Given the description of an element on the screen output the (x, y) to click on. 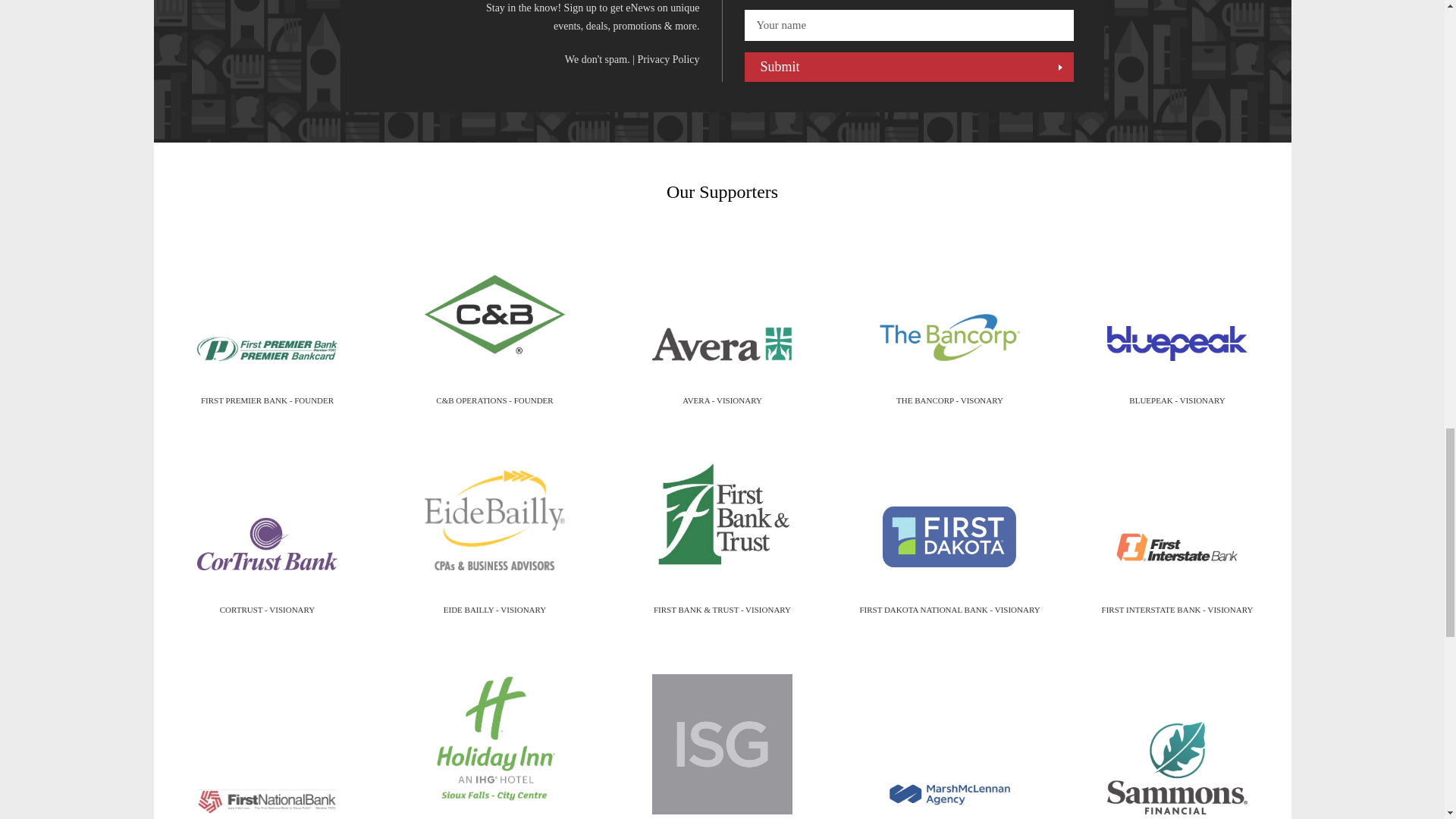
The Bancorp - VISONARY (949, 337)
First PREMIER Bank - FOUNDER (266, 348)
Holiday Inn - VISIONARY (494, 730)
First Dakota National Bank - VISIONARY (949, 535)
BluePeak - VISIONARY (1176, 343)
Sammons Financial - VISIONARY (1176, 759)
First Interstate Bank - VISIONARY (1176, 546)
First National Bank - VISIONARY (266, 792)
Eide Bailly - VISIONARY (494, 519)
CorTrust - VISIONARY (266, 543)
Avera - VISIONARY (721, 343)
ISG - VISIONARY (721, 735)
